Given the description of an element on the screen output the (x, y) to click on. 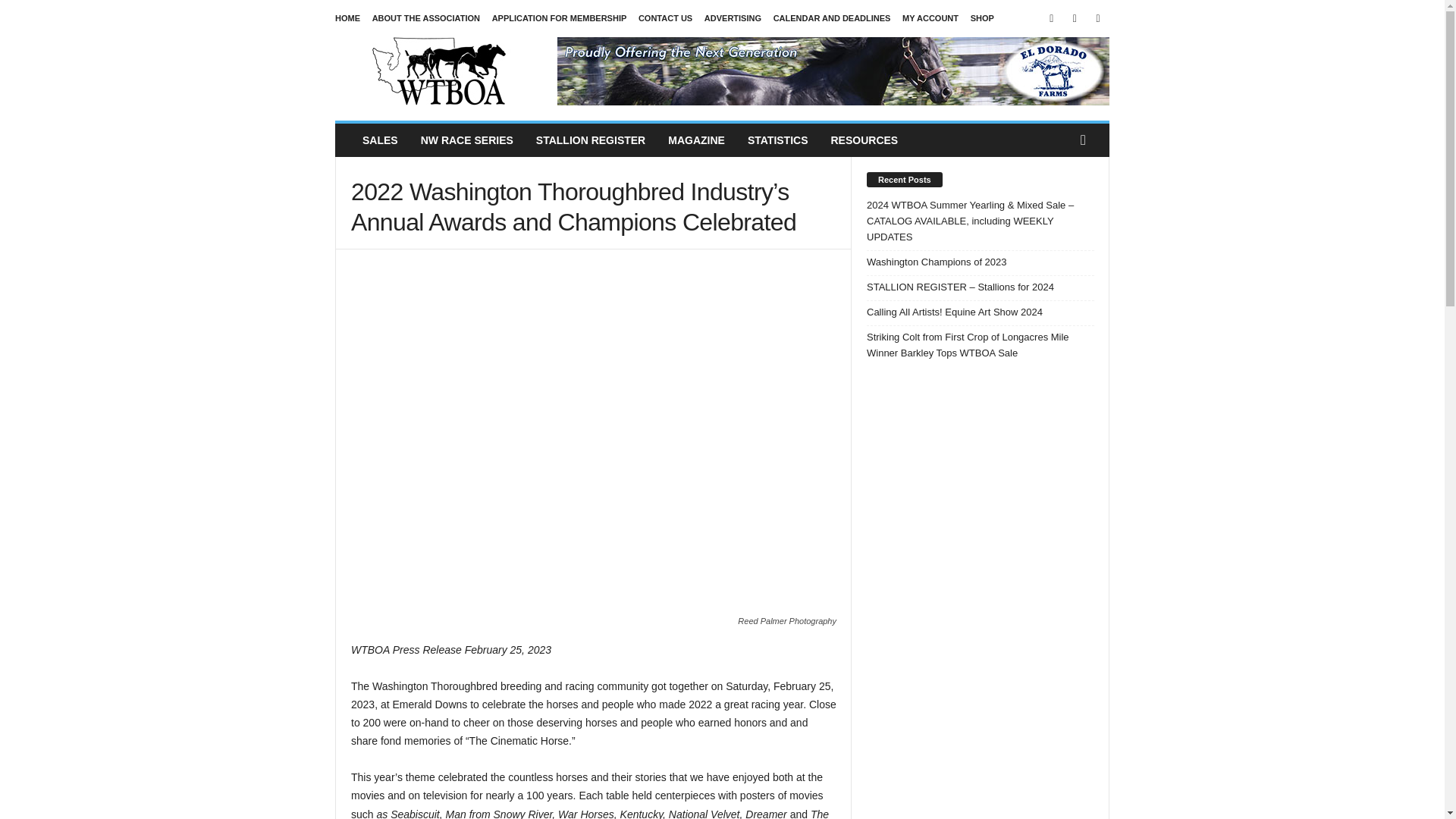
WTBOA (437, 70)
